Given the description of an element on the screen output the (x, y) to click on. 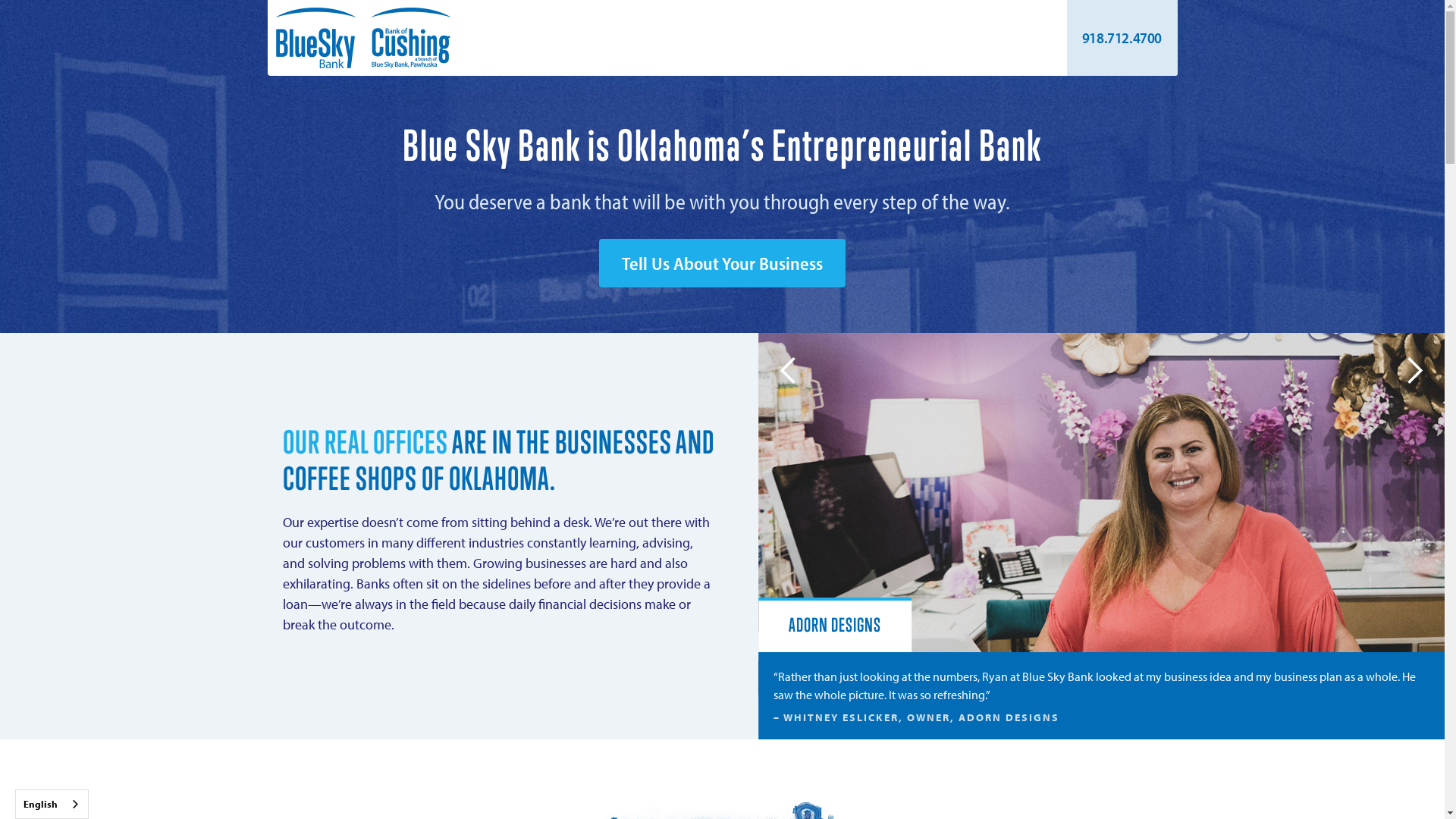
Tell Us About Your Business Element type: text (722, 262)
918.712.4700 Element type: text (1121, 37)
English Element type: text (51, 804)
